Given the description of an element on the screen output the (x, y) to click on. 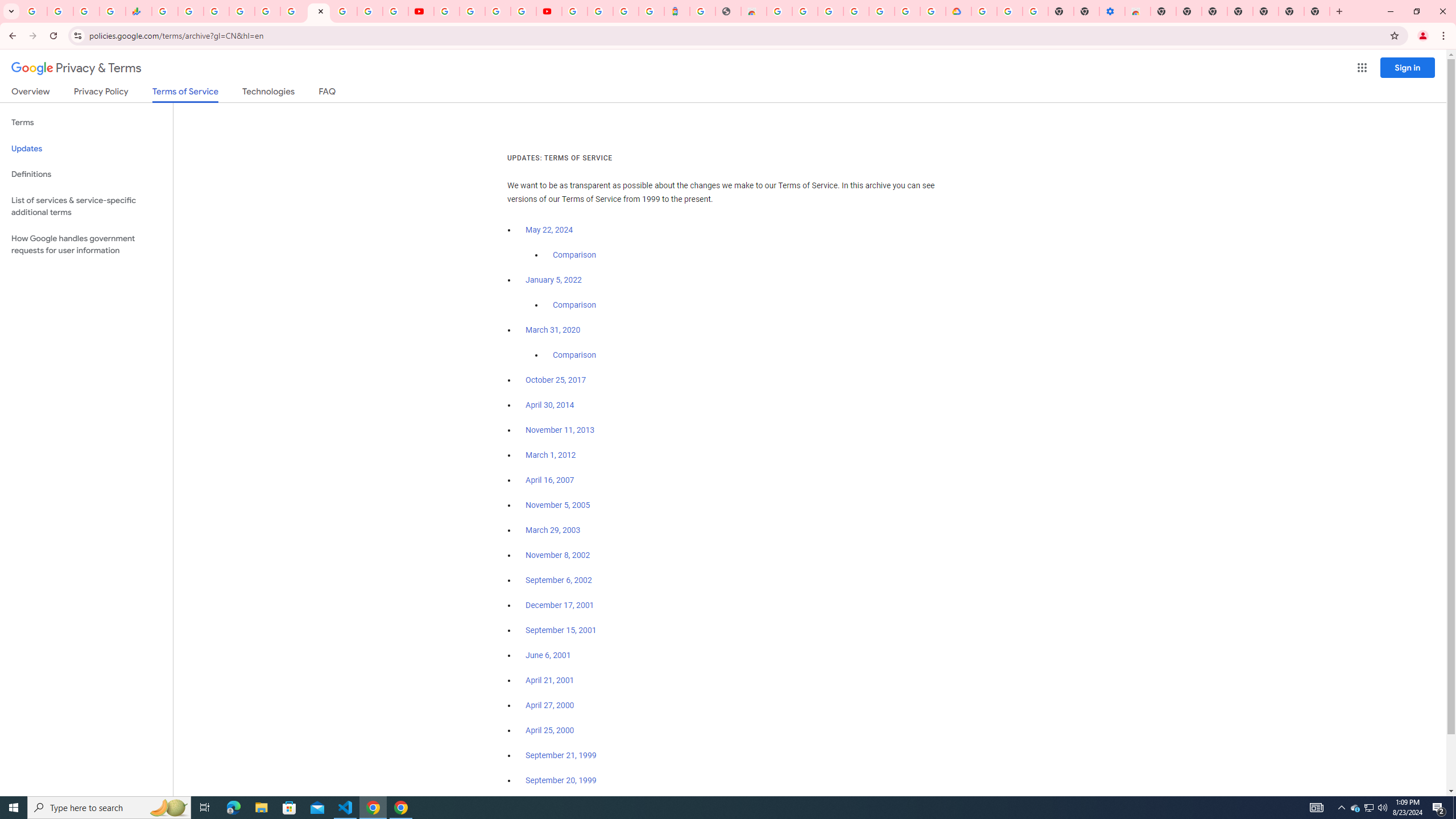
Turn cookies on or off - Computer - Google Account Help (1034, 11)
November 8, 2002 (557, 555)
May 22, 2024 (549, 230)
April 30, 2014 (550, 405)
October 25, 2017 (555, 380)
Sign in - Google Accounts (983, 11)
September 20, 1999 (560, 780)
New Tab (1316, 11)
Definitions (86, 174)
YouTube (446, 11)
March 29, 2003 (552, 530)
